Given the description of an element on the screen output the (x, y) to click on. 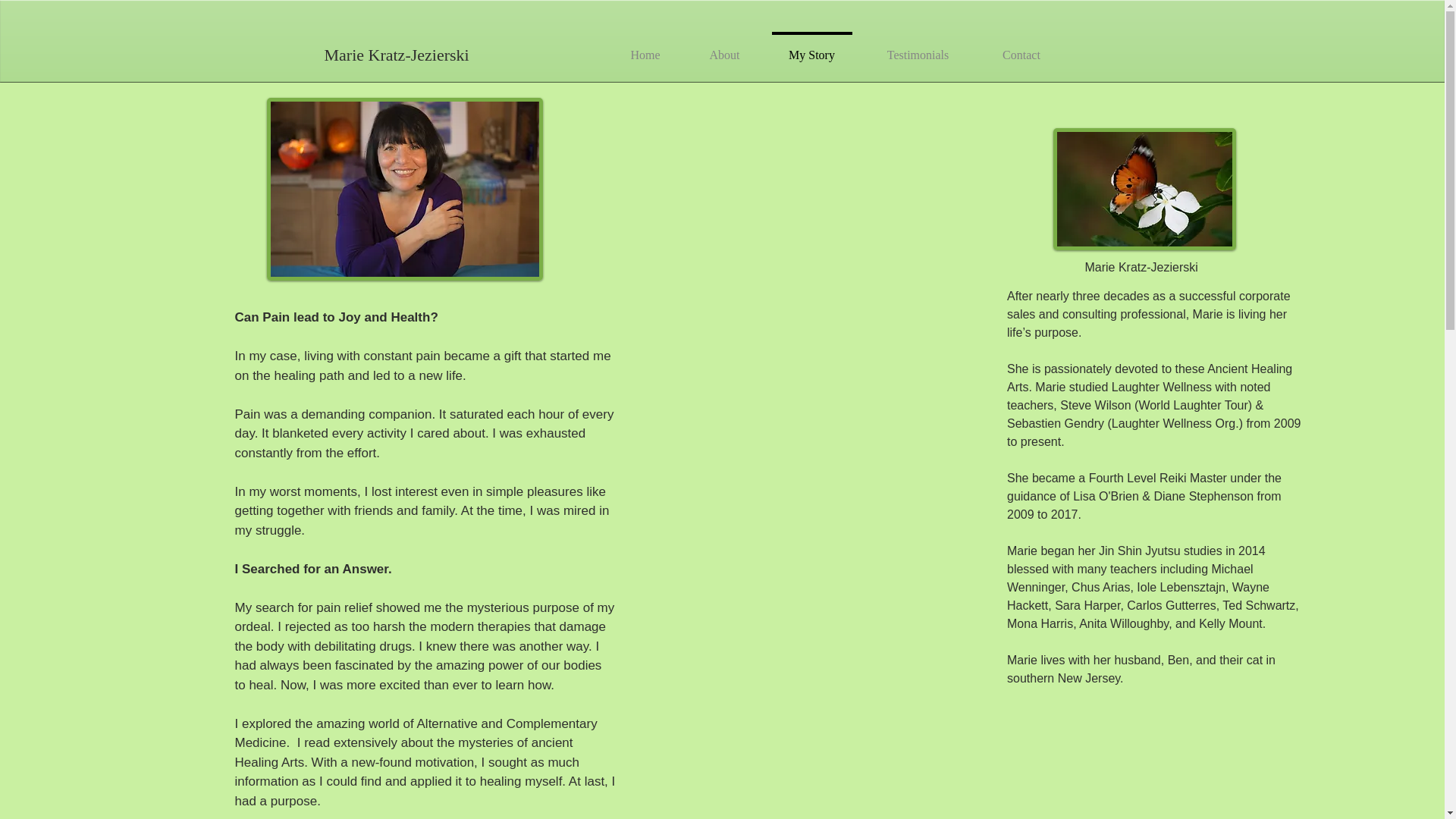
About (724, 48)
Marie Kratz-Jezierski (500, 55)
My Story (812, 48)
Home (644, 48)
Contact (1021, 48)
Testimonials (918, 48)
